Given the description of an element on the screen output the (x, y) to click on. 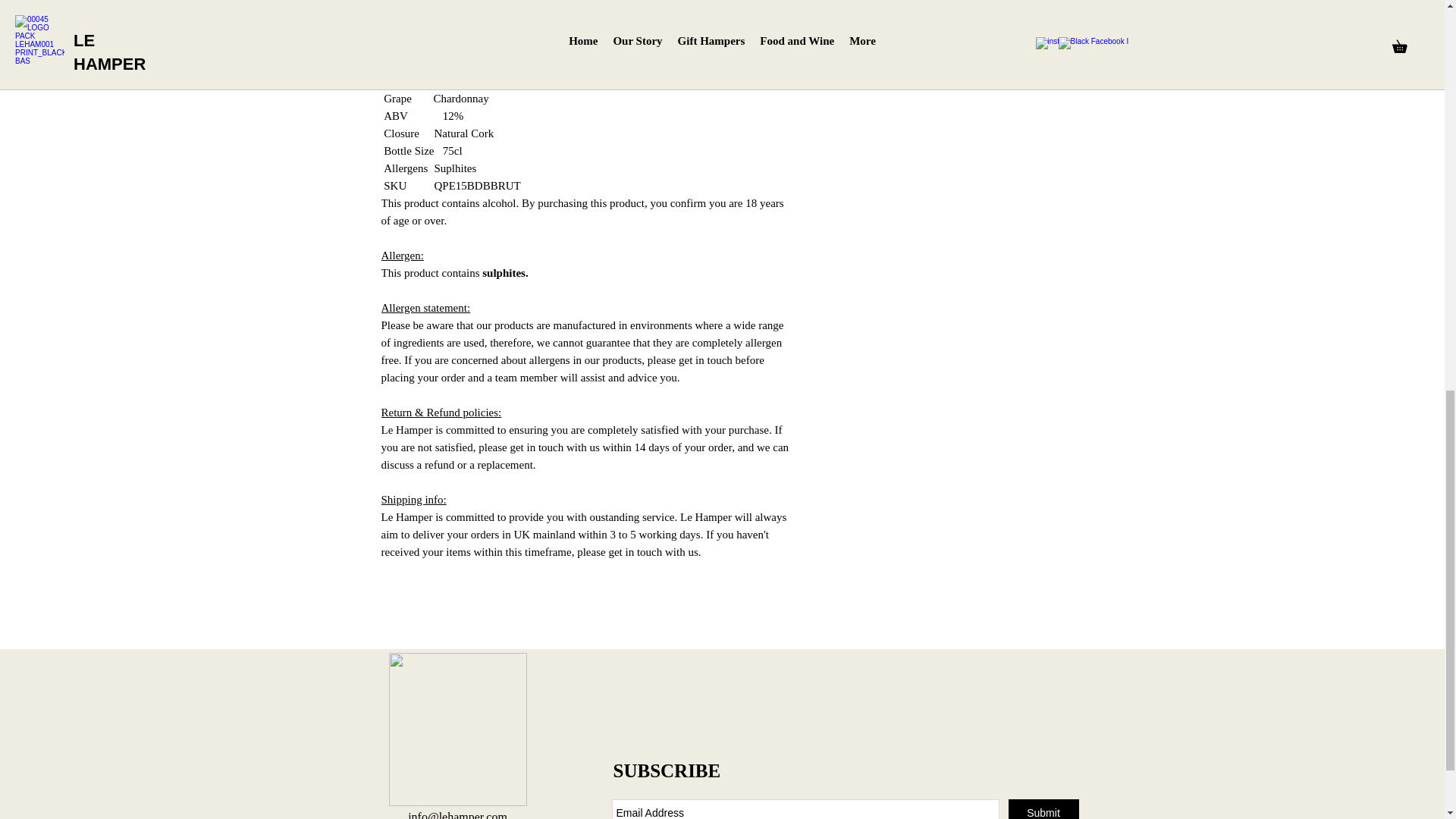
Add to your Basket (959, 10)
Submit (1043, 809)
